Given the description of an element on the screen output the (x, y) to click on. 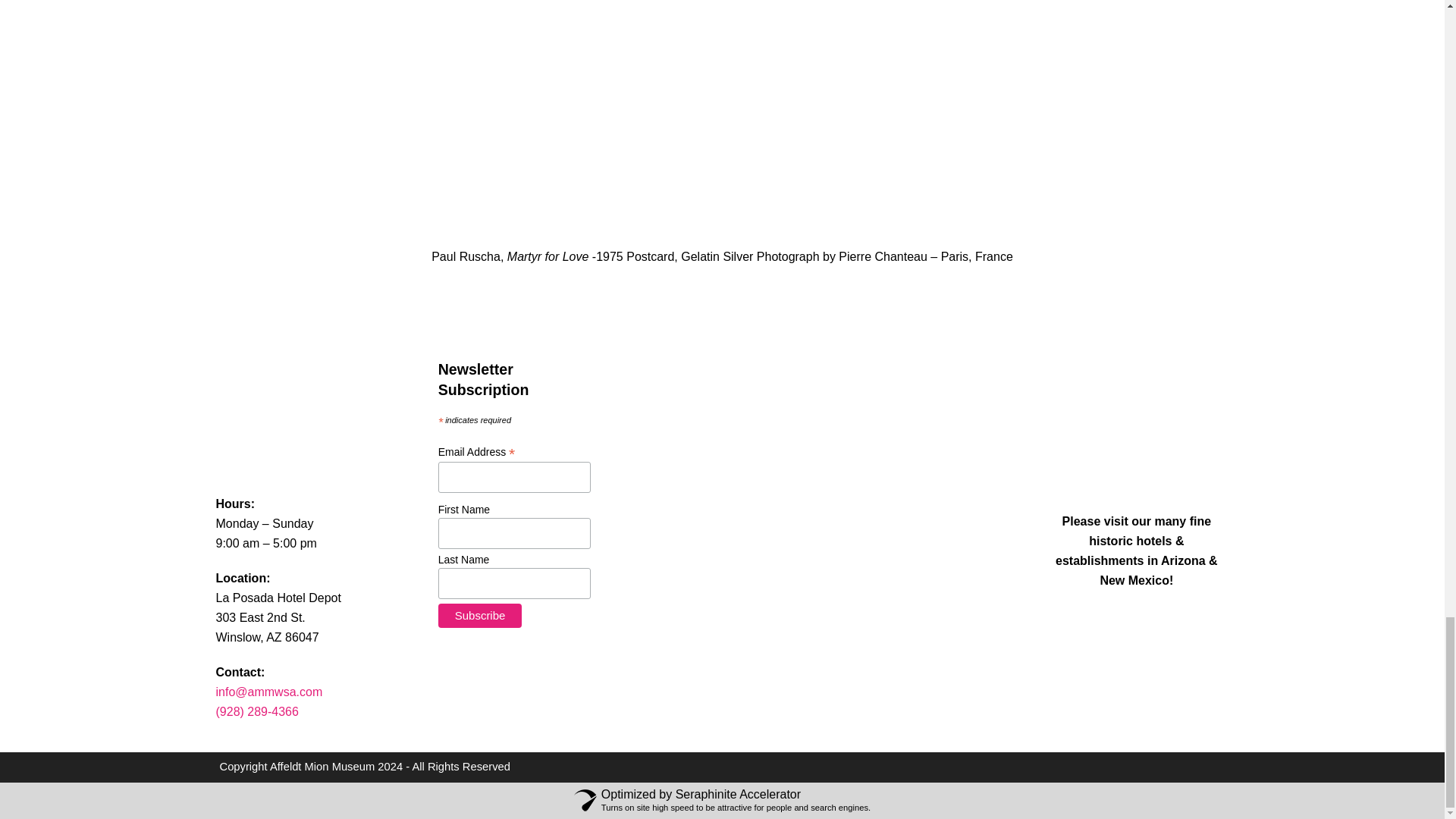
Subscribe (480, 615)
Subscribe (480, 615)
